Given the description of an element on the screen output the (x, y) to click on. 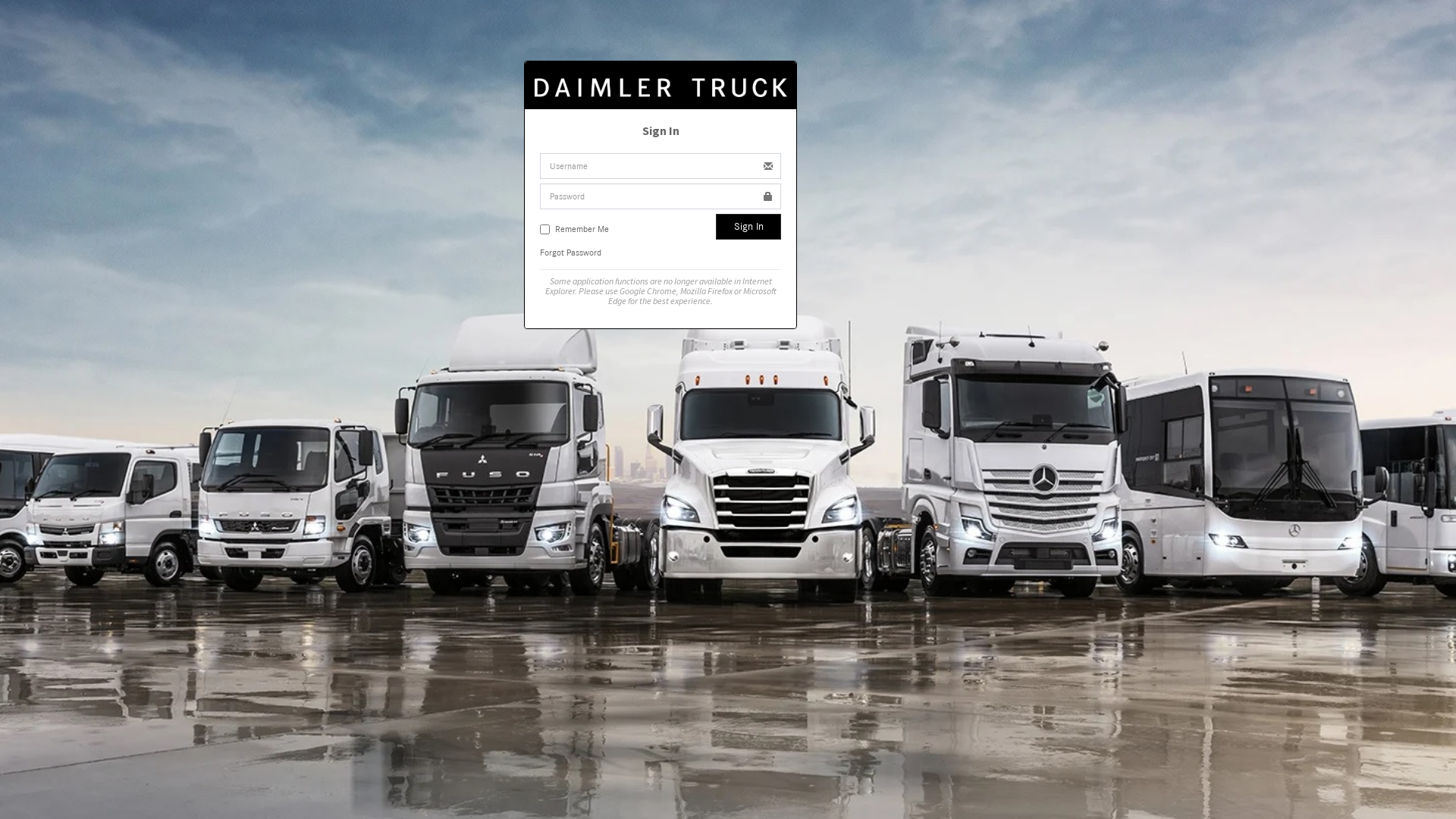
Sign In Element type: text (748, 226)
Forgot Password Element type: text (570, 252)
